Given the description of an element on the screen output the (x, y) to click on. 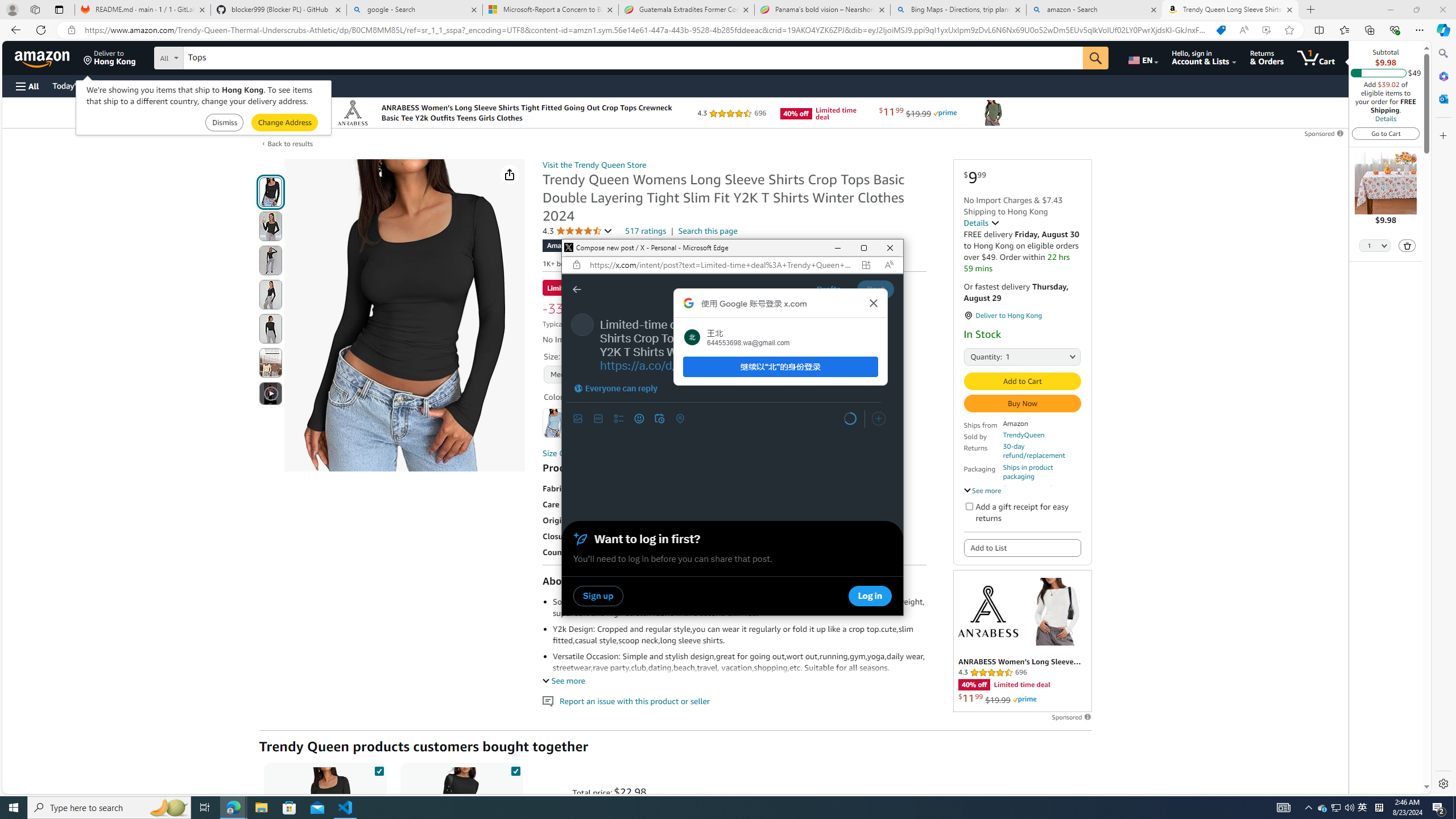
App available. Install X (865, 264)
Registry (205, 85)
1 item in cart (1315, 57)
Delete (1407, 245)
Gift Cards (251, 85)
Go (1096, 57)
Add a GIF (598, 418)
Add a gift receipt for easy returns (968, 506)
Maximize (863, 248)
